Given the description of an element on the screen output the (x, y) to click on. 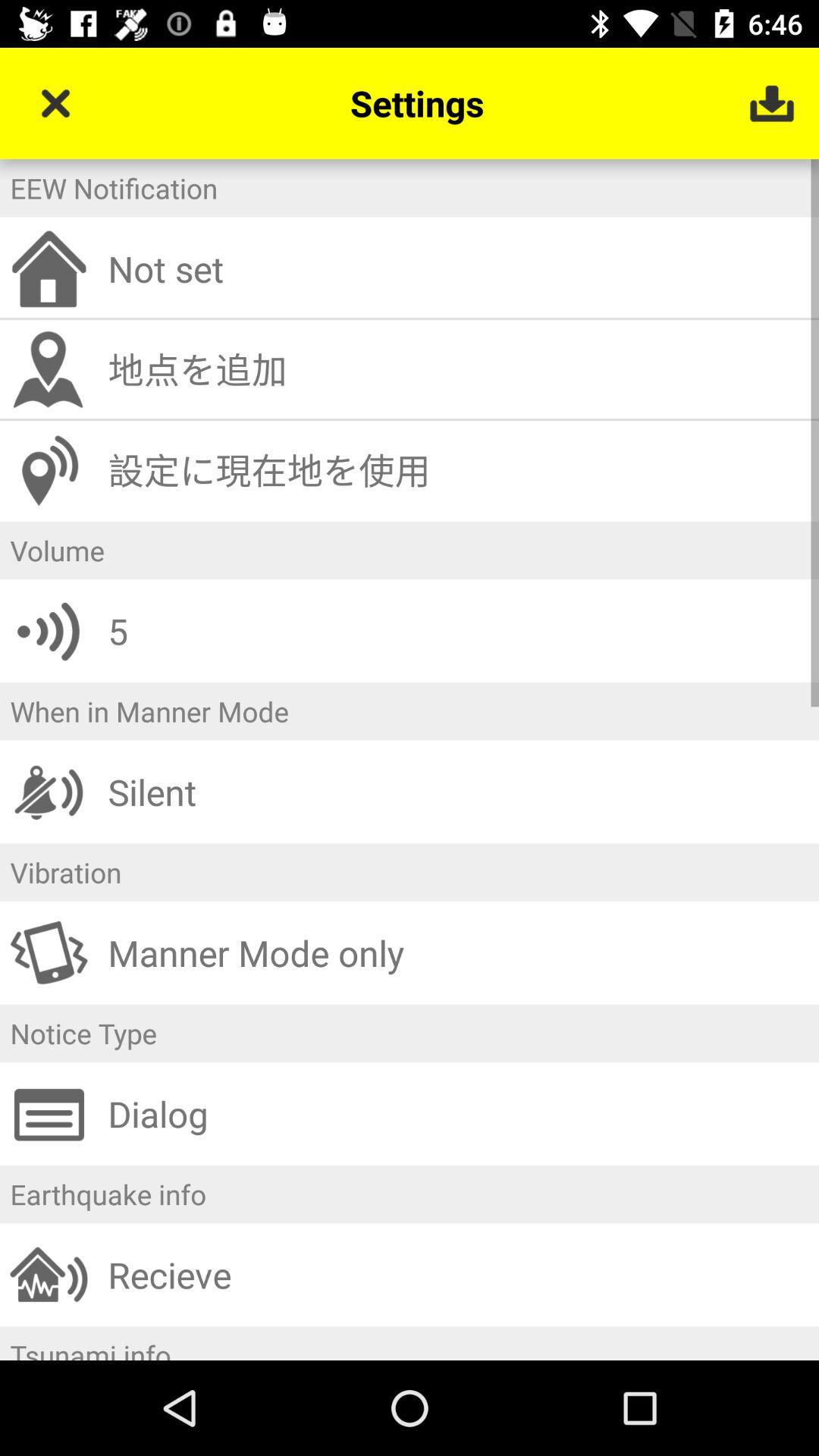
press the silent icon (458, 791)
